Given the description of an element on the screen output the (x, y) to click on. 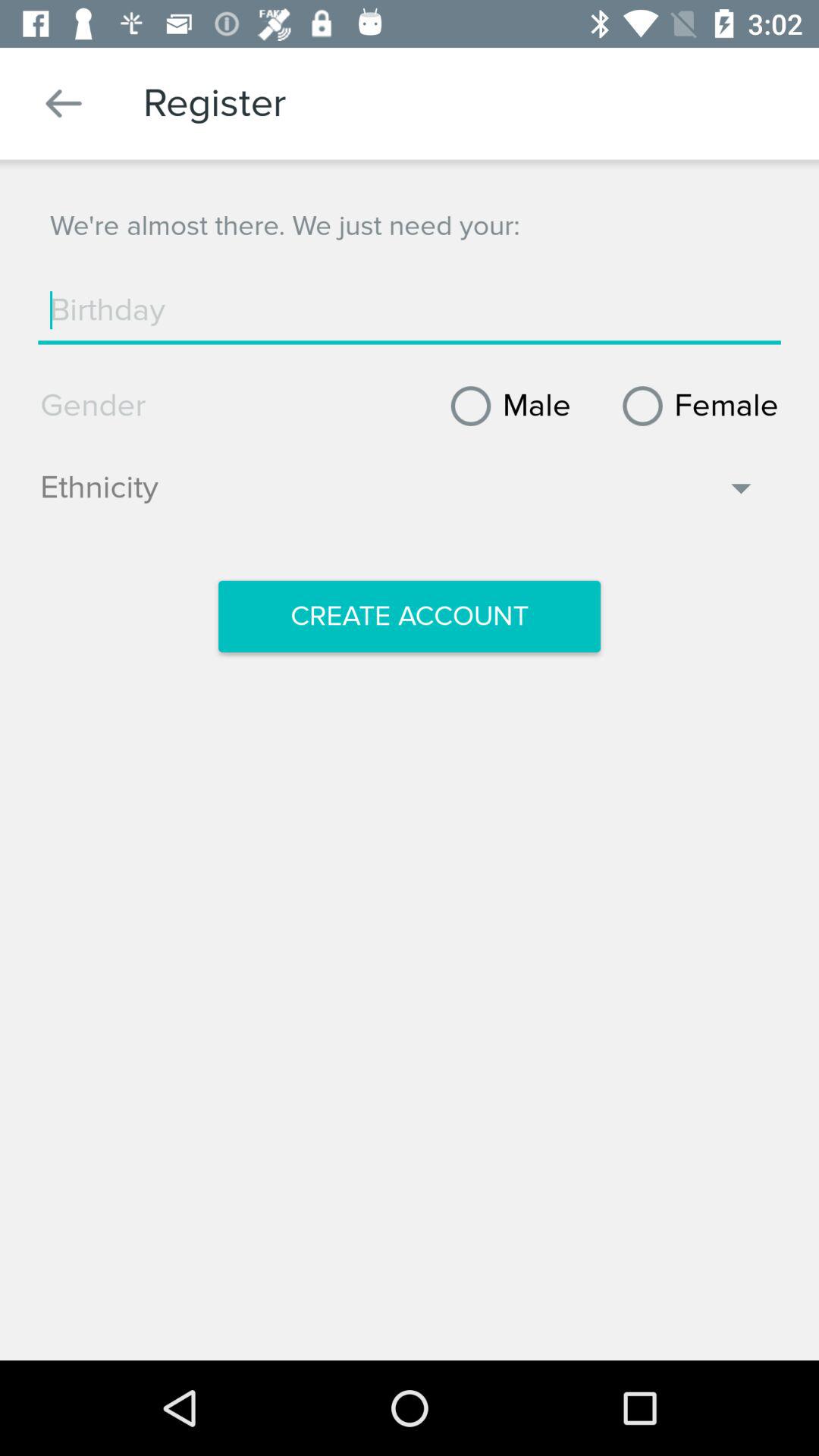
swipe until the male item (505, 405)
